Given the description of an element on the screen output the (x, y) to click on. 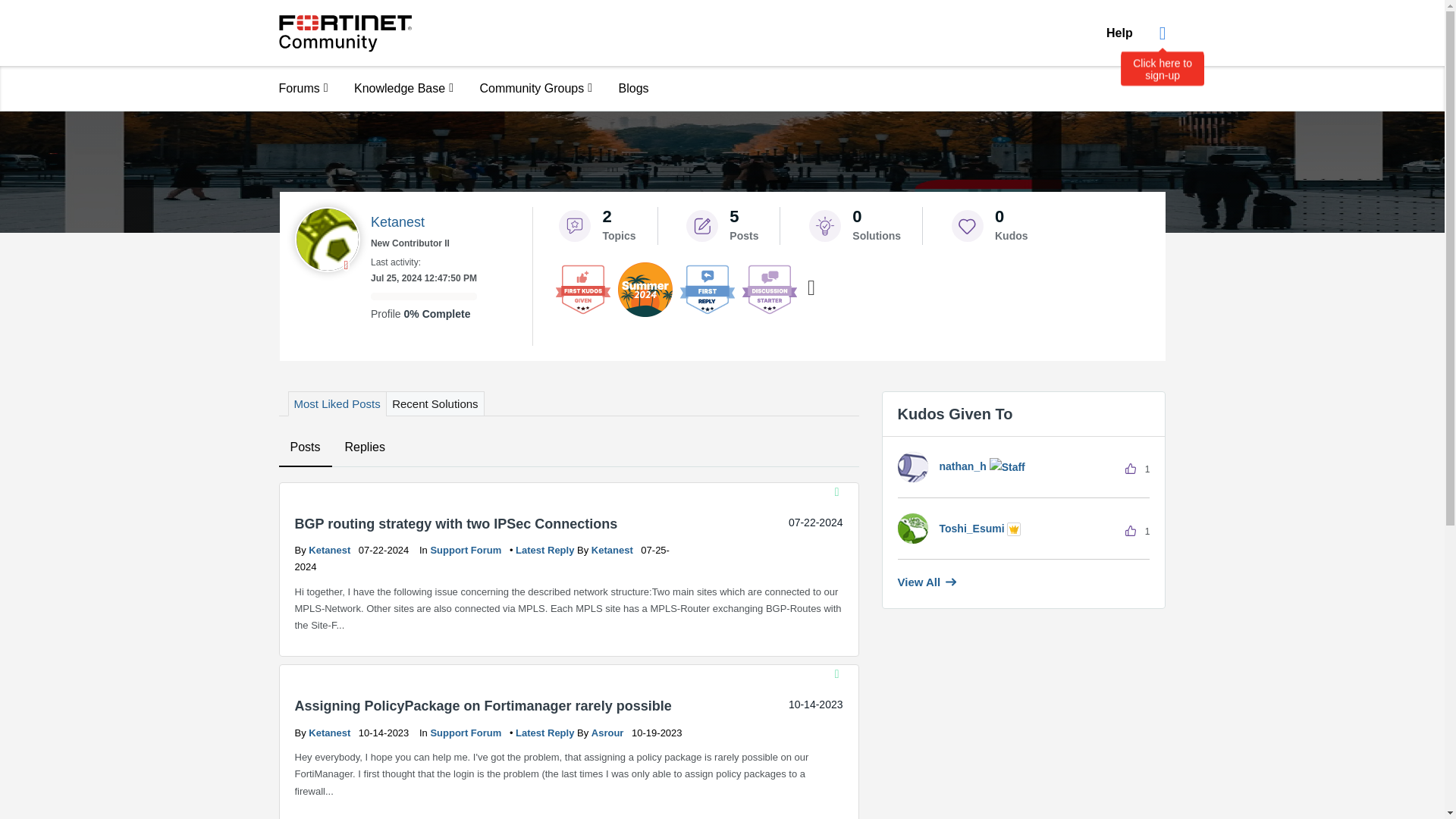
View profile (608, 732)
Knowledge Base (403, 88)
View post (545, 732)
Discussion Starter (768, 289)
View profile (330, 550)
Fortinet Community (345, 33)
View post (545, 550)
View profile (330, 732)
First Reply (706, 289)
10-14-2023 05:26 PM 10-14-2023 05:26 PM (816, 704)
Summer 2024 (644, 289)
Ketanest (326, 239)
View profile (613, 550)
Help (1119, 32)
First Kudos Given (582, 289)
